Given the description of an element on the screen output the (x, y) to click on. 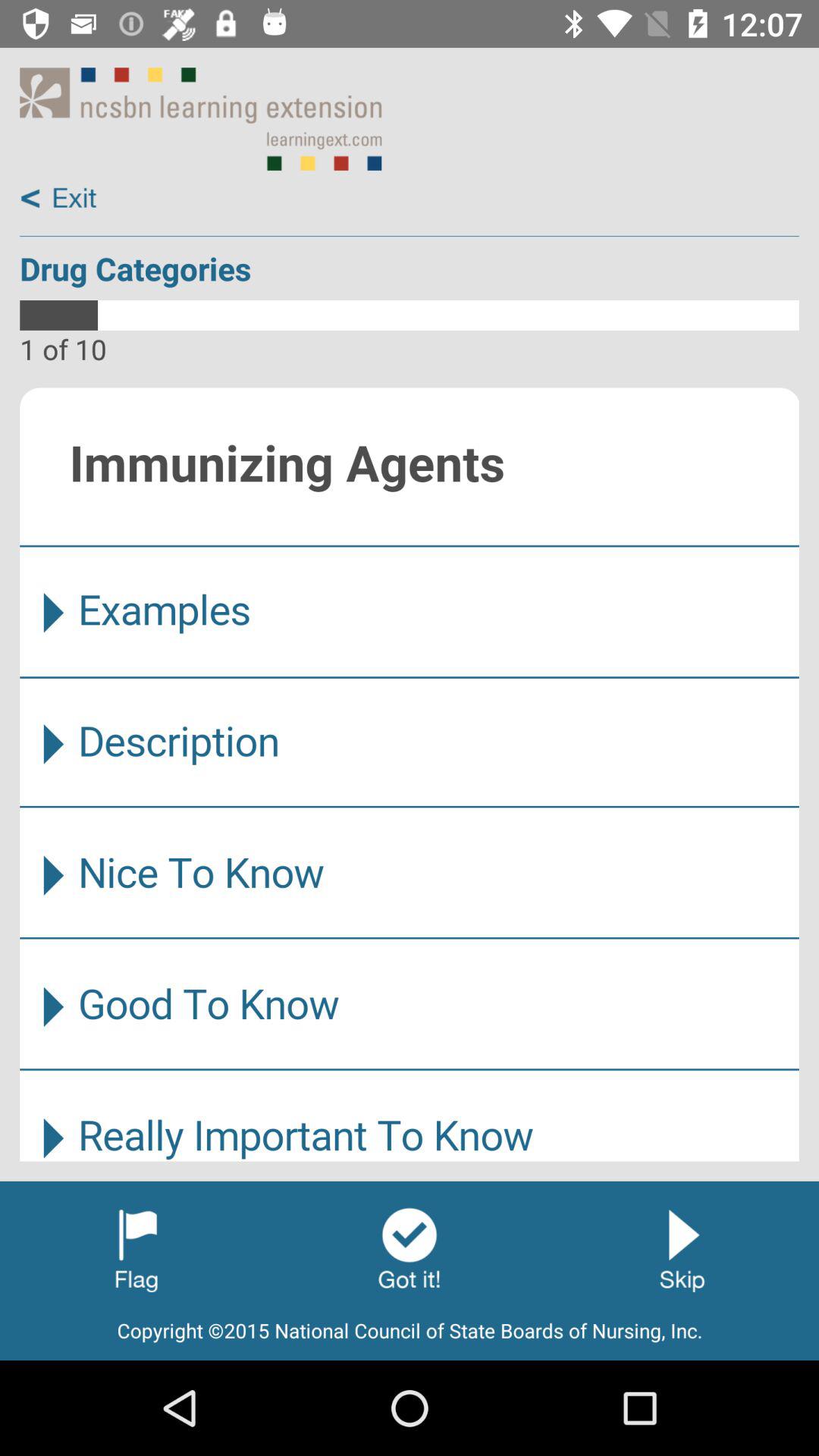
skip category (682, 1248)
